Given the description of an element on the screen output the (x, y) to click on. 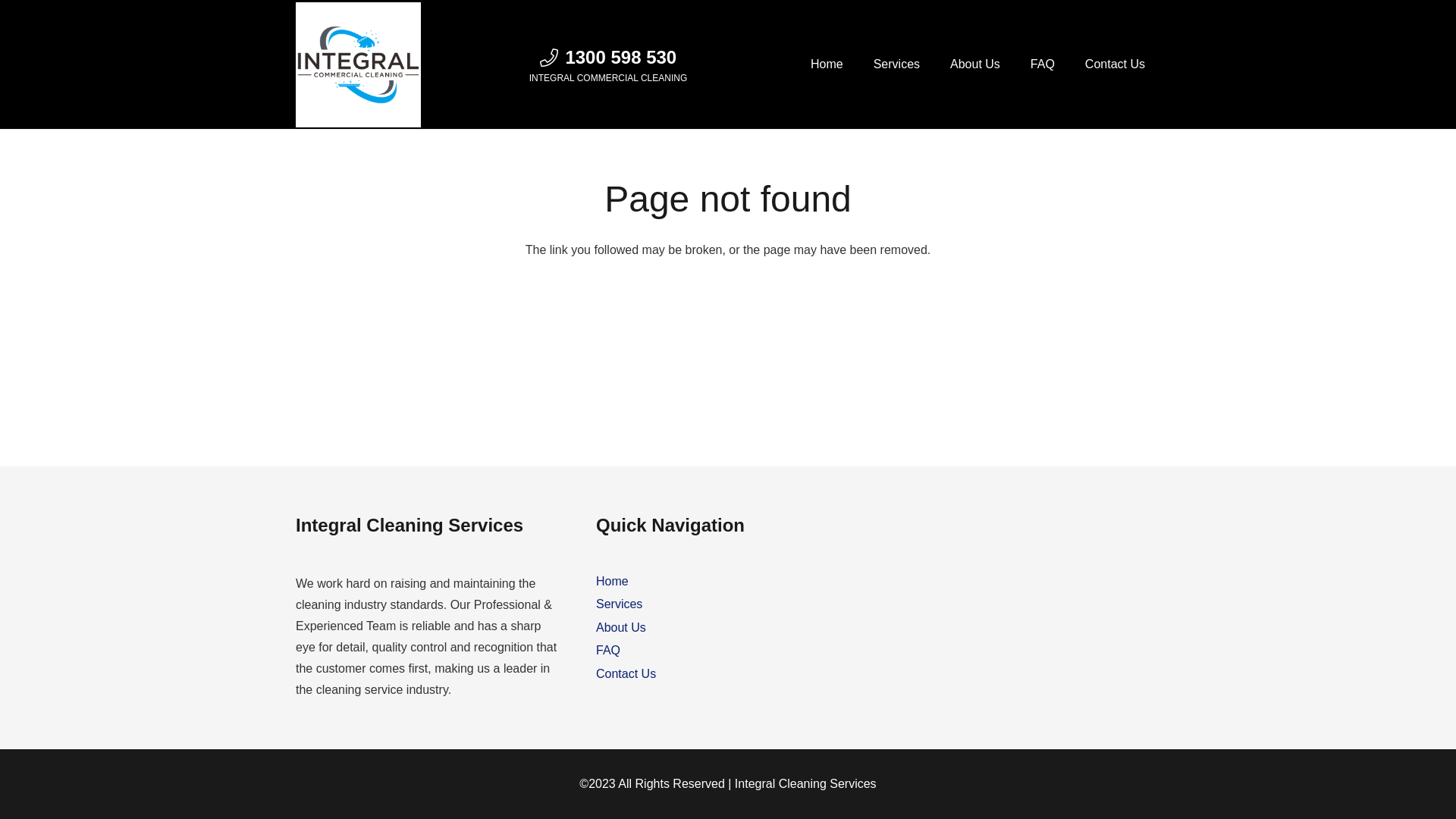
FAQ Element type: text (608, 649)
Contact Us Element type: text (1115, 64)
About Us Element type: text (621, 627)
Home Element type: text (826, 64)
FAQ Element type: text (1042, 64)
Home Element type: text (612, 580)
Services Element type: text (619, 603)
About Us Element type: text (975, 64)
Contact Us Element type: text (625, 673)
Services Element type: text (896, 64)
